Given the description of an element on the screen output the (x, y) to click on. 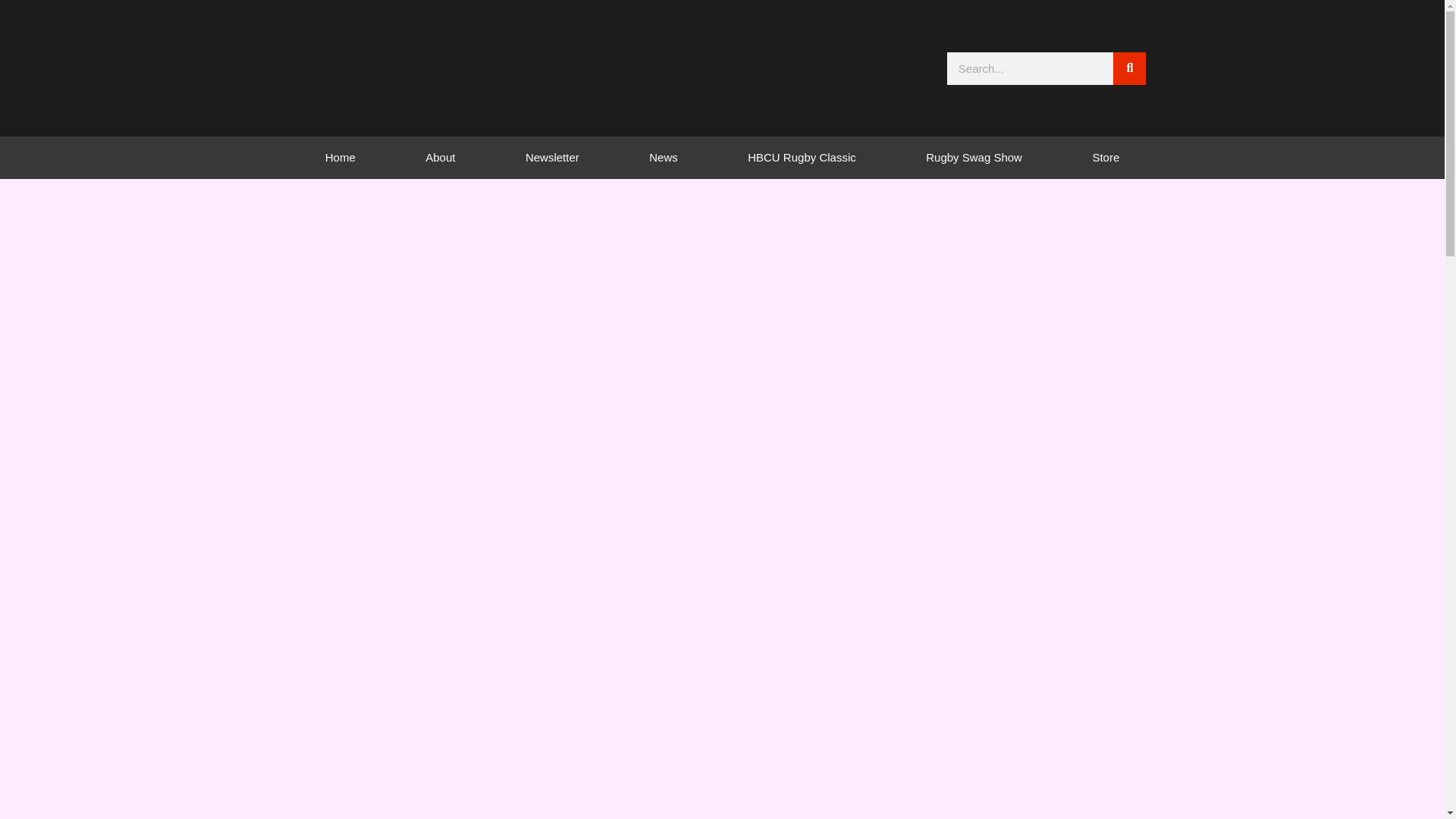
Home (339, 157)
Rugby Swag Show (974, 157)
About (440, 157)
Store (1105, 157)
News (663, 157)
HBCU Rugby Classic (802, 157)
Newsletter (552, 157)
